Given the description of an element on the screen output the (x, y) to click on. 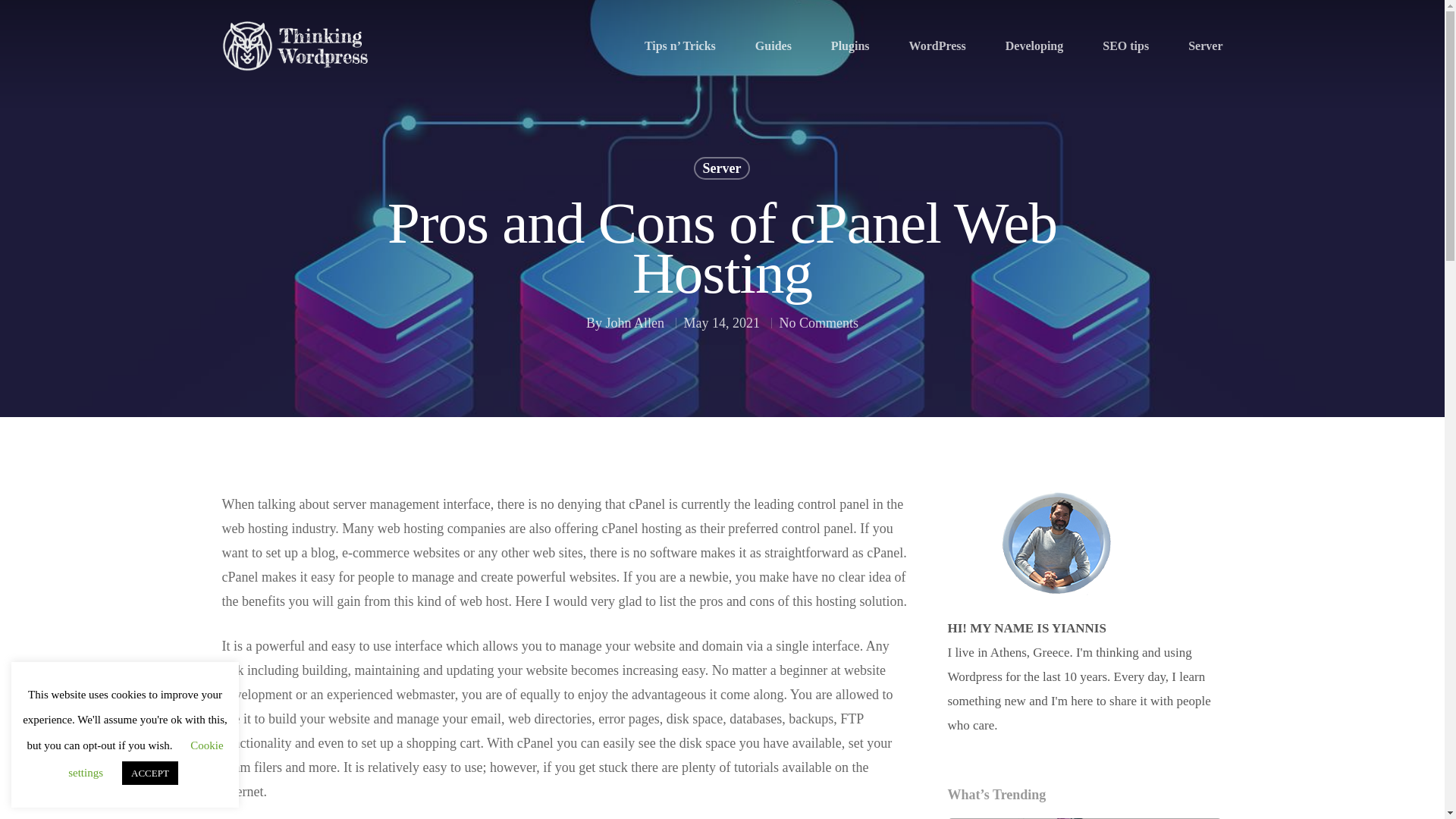
Posts by John Allen (634, 328)
Guides (773, 46)
WordPress (937, 46)
No Comments (818, 350)
Developing (1034, 46)
Server (722, 196)
Server (1205, 46)
John Allen (634, 350)
Plugins (850, 46)
SEO tips (1125, 46)
